Given the description of an element on the screen output the (x, y) to click on. 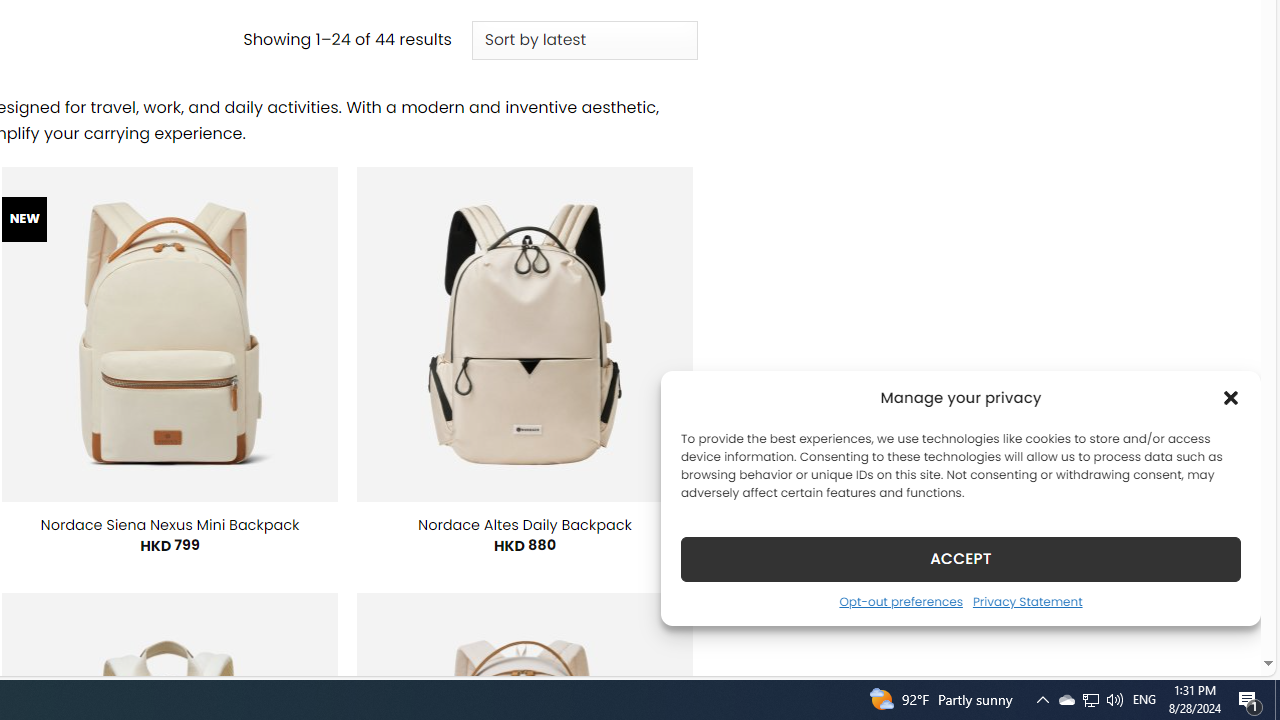
Nordace Altes Daily Backpack (525, 524)
Nordace Siena Nexus Mini Backpack (169, 524)
ACCEPT (960, 558)
Opt-out preferences (900, 601)
Class: cmplz-close (1231, 397)
Privacy Statement (1026, 601)
Shop order (584, 40)
